Given the description of an element on the screen output the (x, y) to click on. 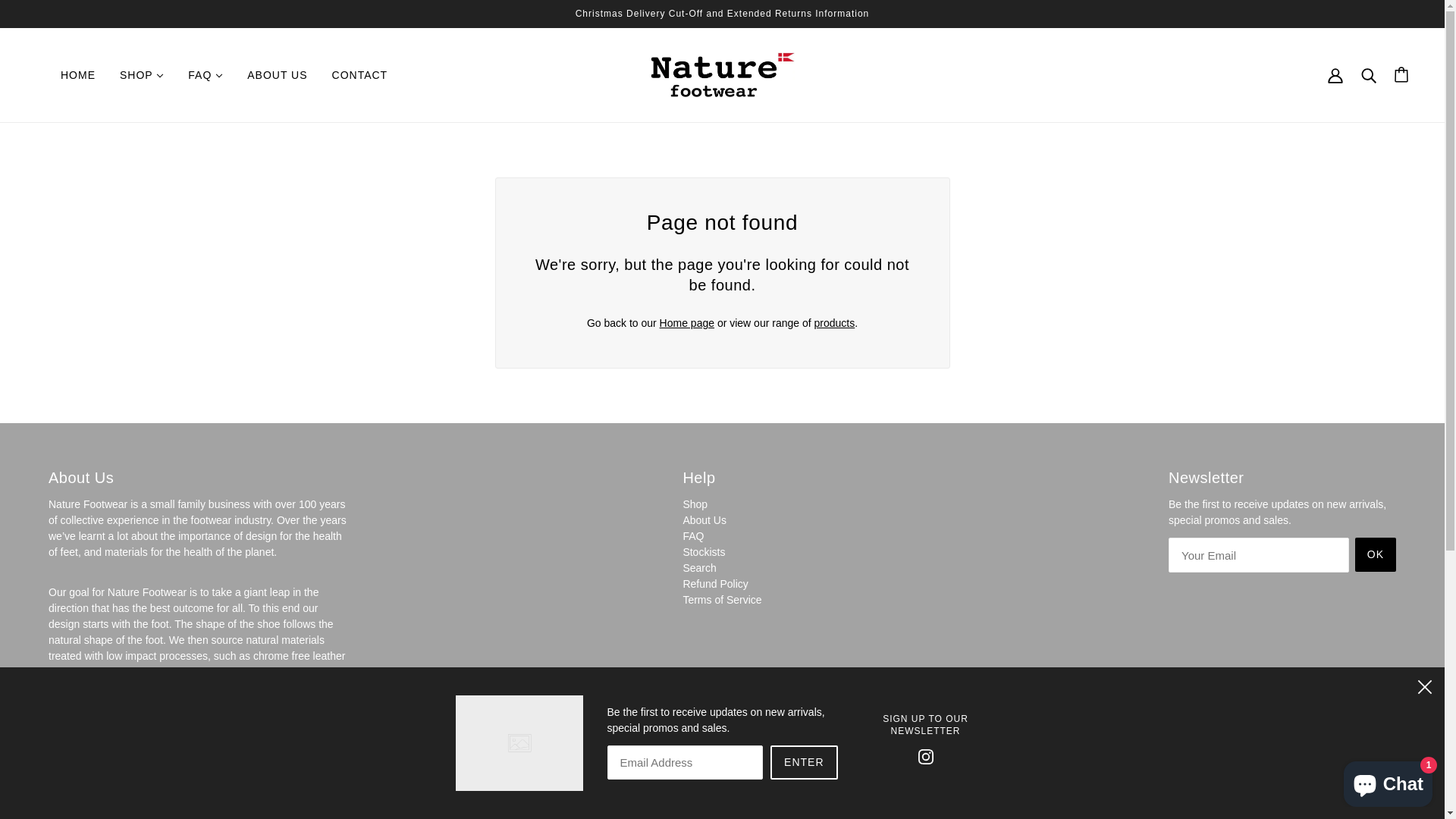
HOME Element type: text (77, 74)
OK Element type: text (1375, 554)
FAQ Element type: text (205, 74)
Refund Policy Element type: text (714, 583)
Home page Element type: text (686, 322)
About Us Element type: text (704, 520)
Shopify online store chat Element type: hover (1388, 780)
Instagram Element type: hover (924, 755)
Nature Footwear Australia Element type: hover (722, 74)
ABOUT US Element type: text (277, 74)
Christmas Delivery Cut-Off and Extended Returns Information Element type: text (722, 14)
Terms of Service Element type: text (721, 599)
Stockists Element type: text (703, 552)
SHOP Element type: text (141, 74)
Search Element type: text (698, 567)
products Element type: text (834, 322)
FAQ Element type: text (692, 536)
ENTER Element type: text (803, 762)
CONTACT Element type: text (360, 74)
Shop Element type: text (694, 504)
